Given the description of an element on the screen output the (x, y) to click on. 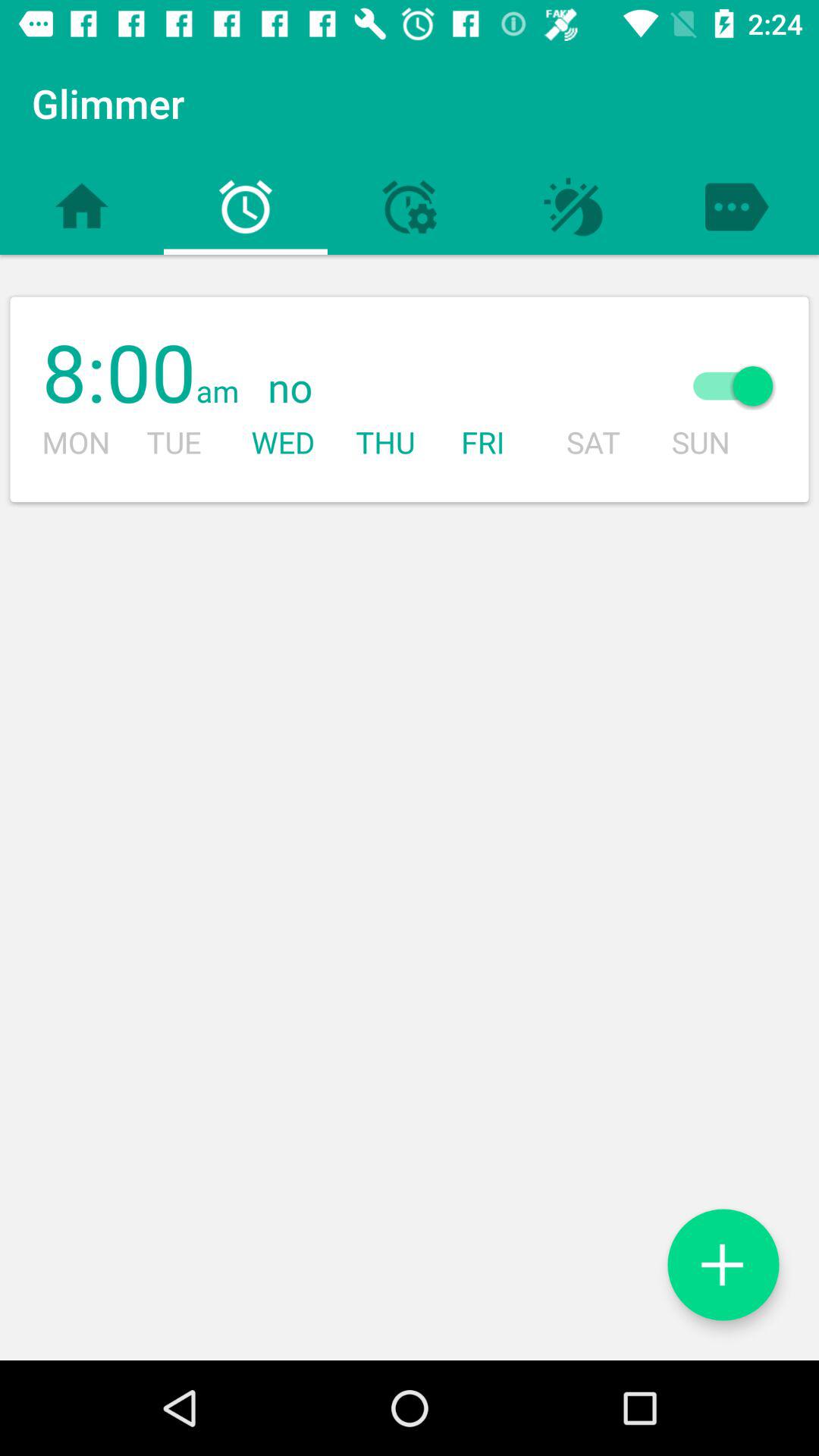
press the item to the left of am item (119, 375)
